Given the description of an element on the screen output the (x, y) to click on. 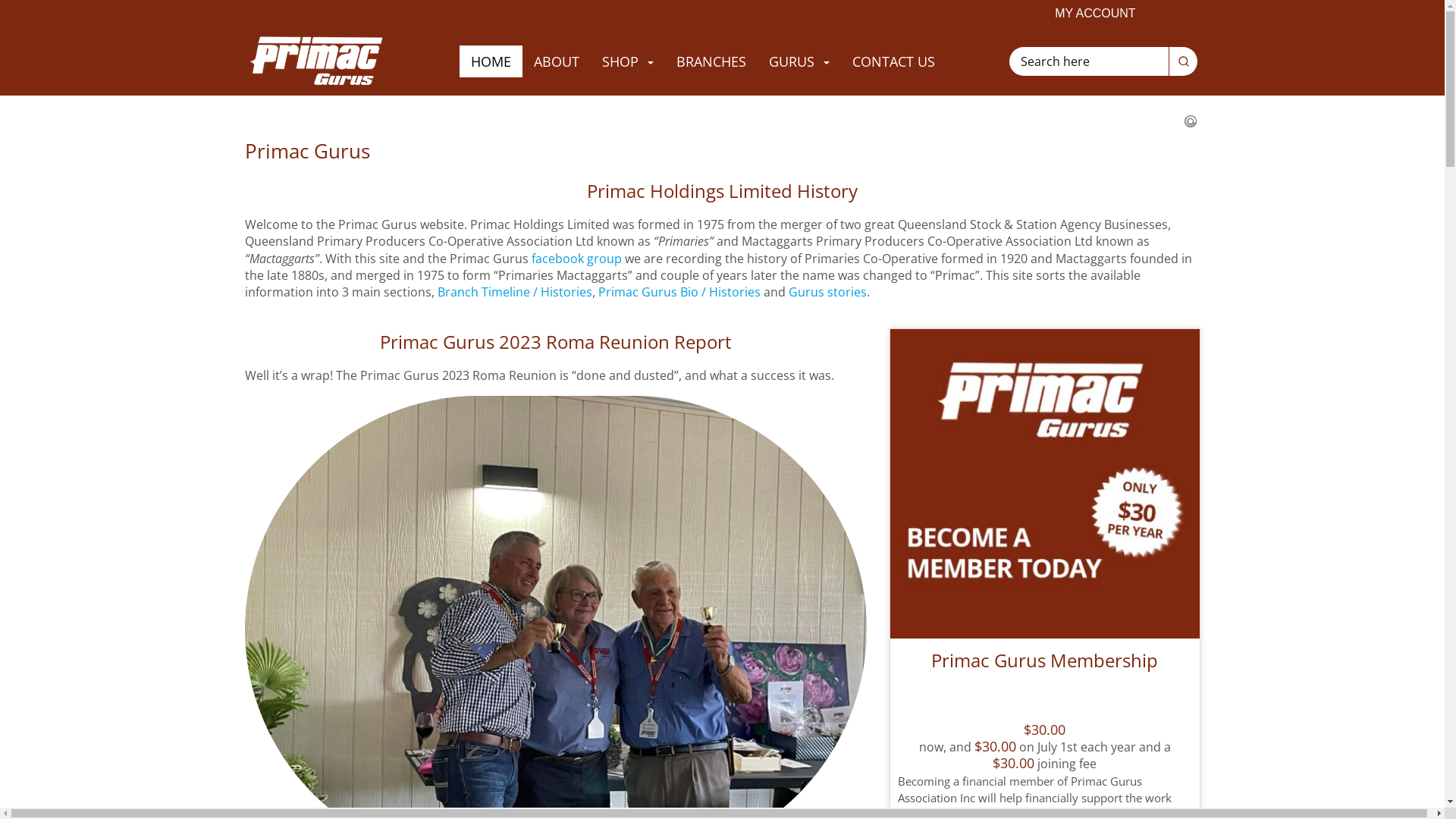
SHOP Element type: text (627, 61)
ABOUT Element type: text (556, 61)
BRANCHES Element type: text (711, 61)
Primac Gurus Bio / Histories Element type: text (678, 291)
MY ACCOUNT Element type: text (1094, 13)
facebook group Element type: text (575, 258)
Primac Gurus Membership Element type: text (1044, 672)
Branch Timeline / Histories Element type: text (513, 291)
GURUS Element type: text (798, 61)
CONTACT US Element type: text (893, 61)
HOME Element type: text (490, 61)
Gurus stories Element type: text (827, 291)
